Given the description of an element on the screen output the (x, y) to click on. 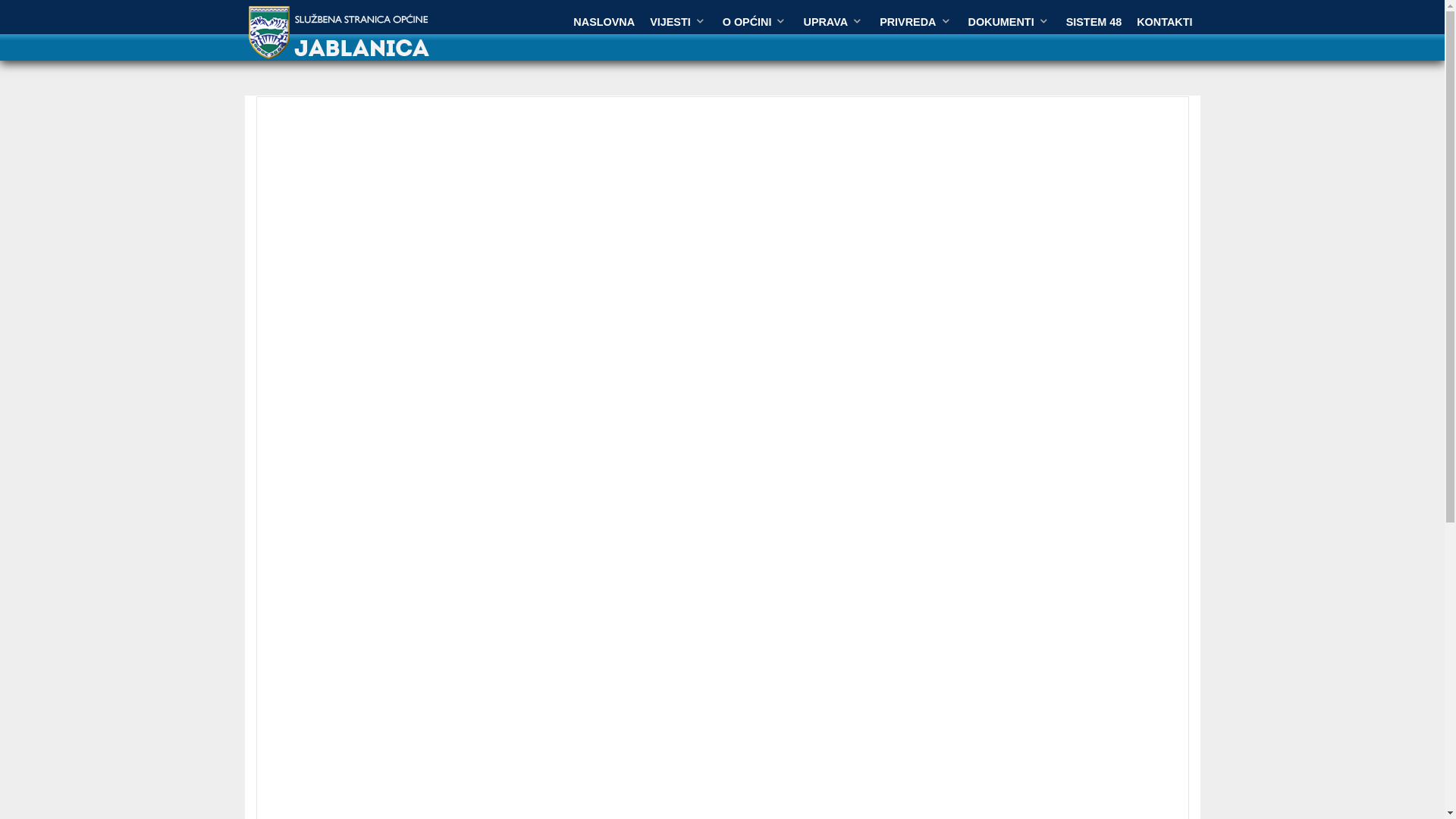
SISTEM 48 Element type: text (1093, 21)
KONTAKTI Element type: text (1164, 21)
UPRAVA Element type: text (833, 21)
NASLOVNA Element type: text (603, 21)
DOKUMENTI Element type: text (1008, 21)
PRIVREDA Element type: text (916, 21)
VIJESTI Element type: text (678, 21)
